Given the description of an element on the screen output the (x, y) to click on. 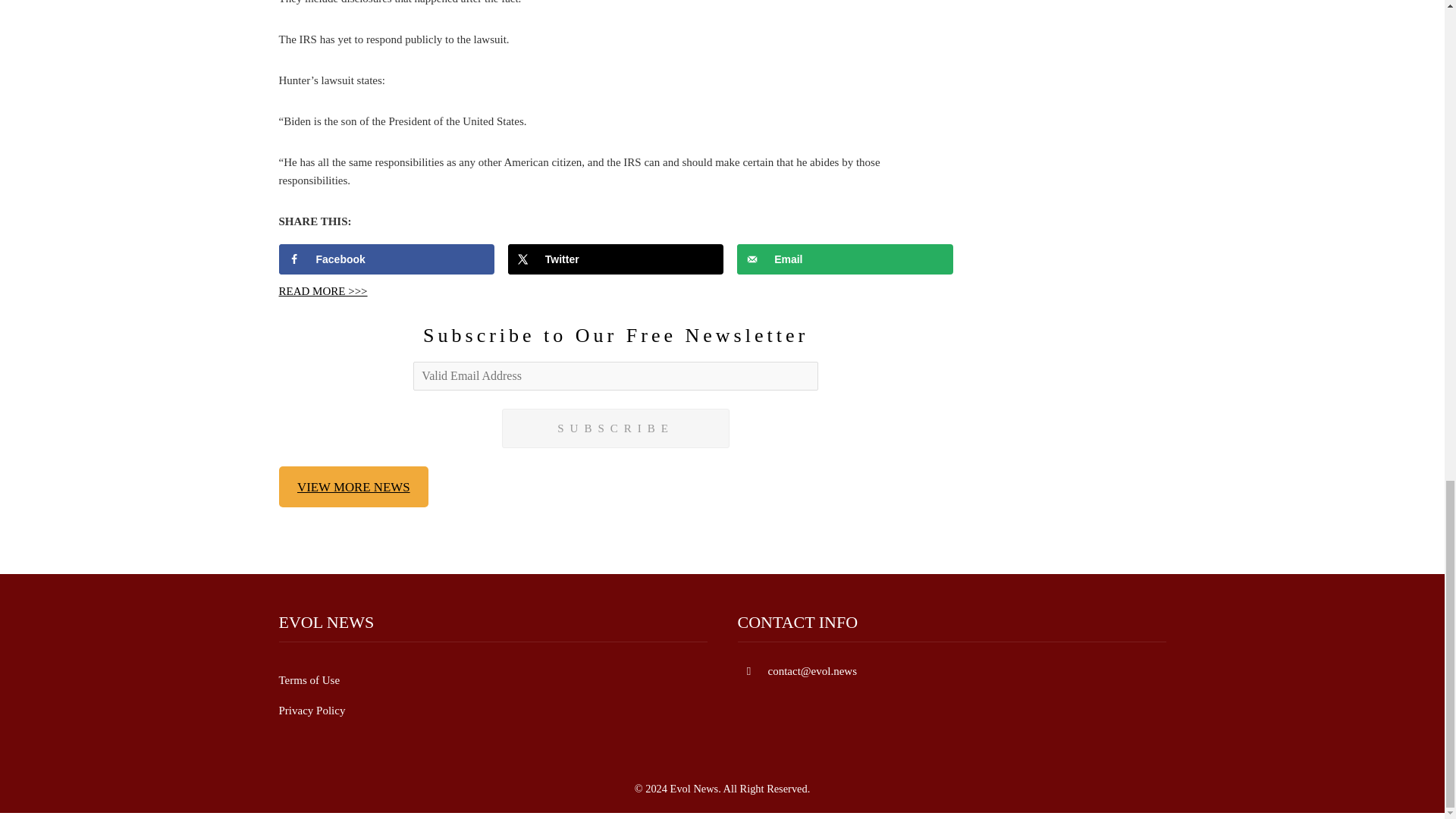
Share on X (615, 259)
Privacy Policy (312, 710)
VIEW MORE NEWS (354, 486)
Share on Facebook (387, 259)
Email (844, 259)
Terms of Use (309, 680)
Send over email (844, 259)
Facebook (387, 259)
Twitter (615, 259)
SUBSCRIBE (615, 427)
